Given the description of an element on the screen output the (x, y) to click on. 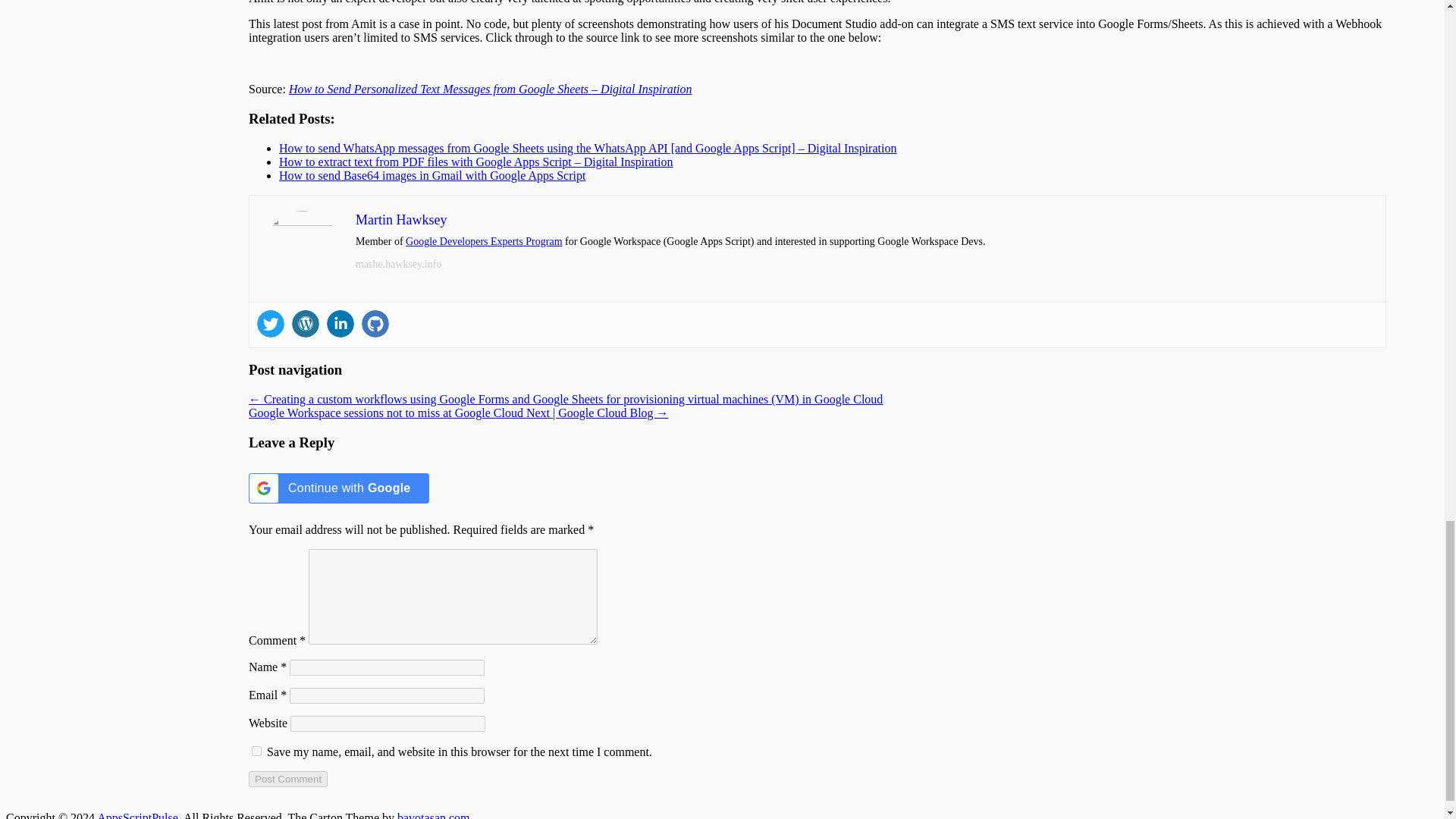
Post Comment (287, 779)
Github (374, 323)
Linkedin (339, 323)
yes (256, 750)
Twitter (270, 323)
Wordpress (305, 323)
